Given the description of an element on the screen output the (x, y) to click on. 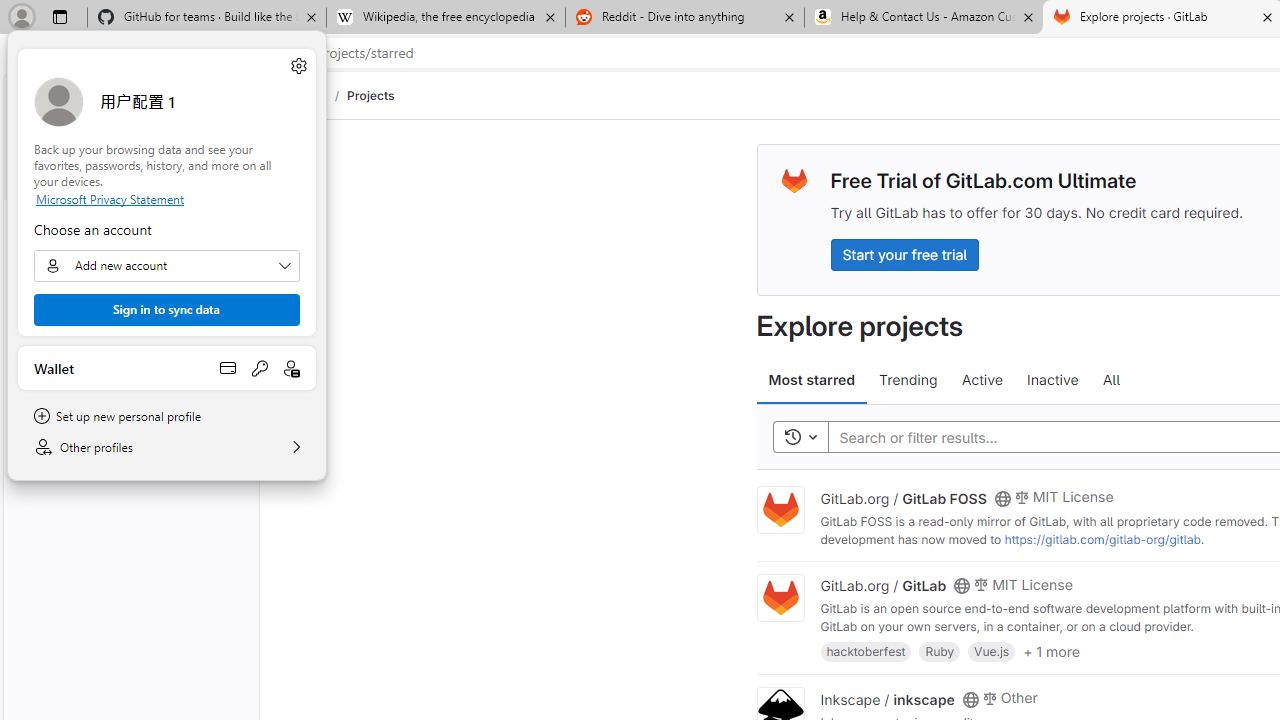
All (1111, 379)
Trending (907, 379)
Choose an account (166, 265)
Class: project (780, 597)
Open passwords (260, 367)
Active (982, 379)
Inkscape / inkscape (887, 698)
Vue.js (991, 650)
Class: s14 gl-mr-2 (989, 696)
hacktoberfest (866, 650)
Open personal info (292, 367)
Manage profile settings (298, 65)
